Given the description of an element on the screen output the (x, y) to click on. 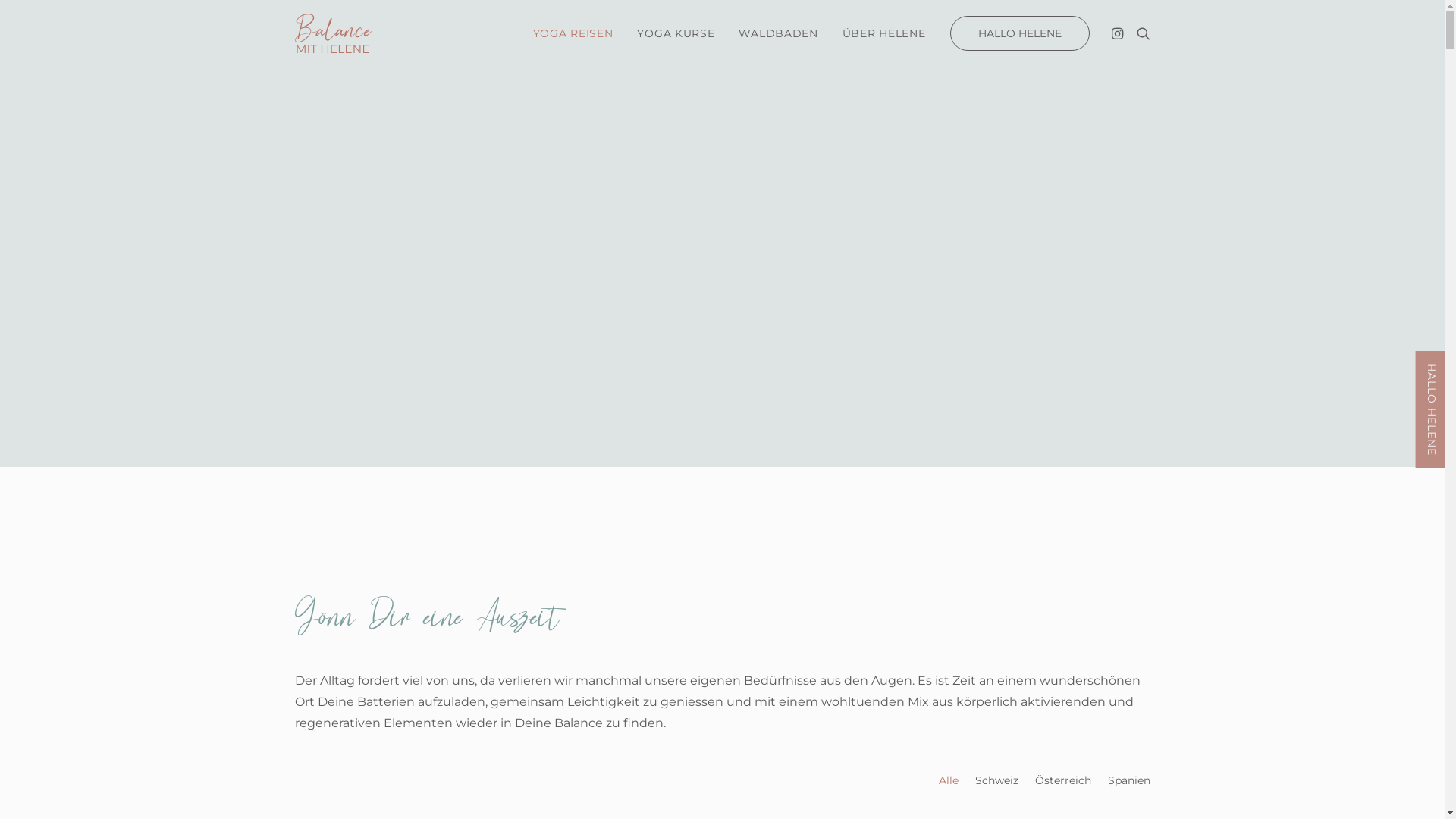
HALLO HELENE Element type: text (1431, 409)
YOGA KURSE Element type: text (675, 33)
Spanien Element type: text (1128, 780)
WALDBADEN Element type: text (778, 33)
Schweiz Element type: text (996, 780)
YOGA REISEN Element type: text (573, 33)
HALLO HELENE Element type: text (1013, 32)
Alle Element type: text (948, 780)
